Given the description of an element on the screen output the (x, y) to click on. 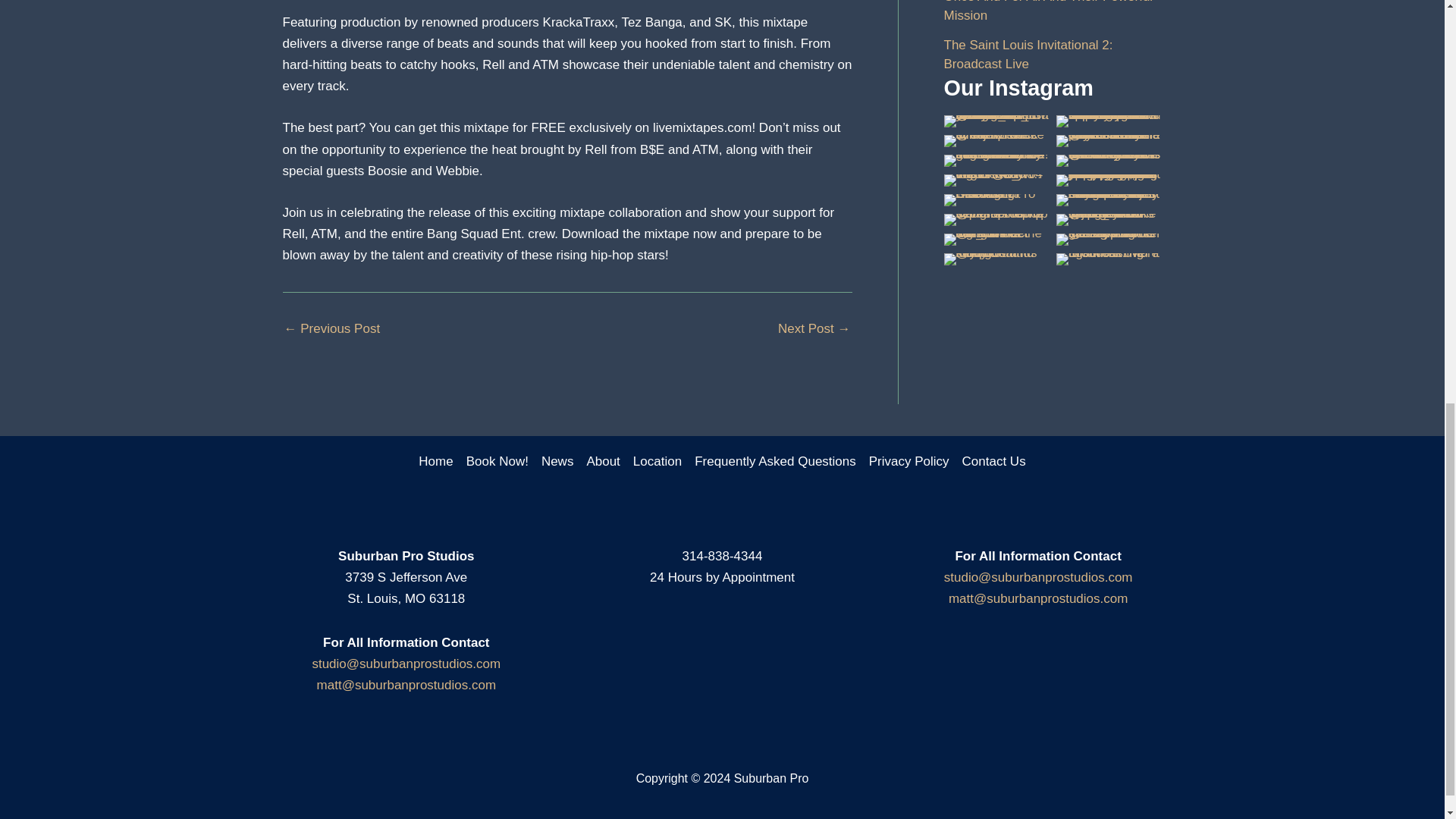
Once And For All And Their Powerful Mission (1048, 11)
The Saint Louis Invitational 2: Broadcast Live (1027, 54)
"No Matter How" - Steddy P (331, 328)
Hip-hop Blues (813, 328)
